Given the description of an element on the screen output the (x, y) to click on. 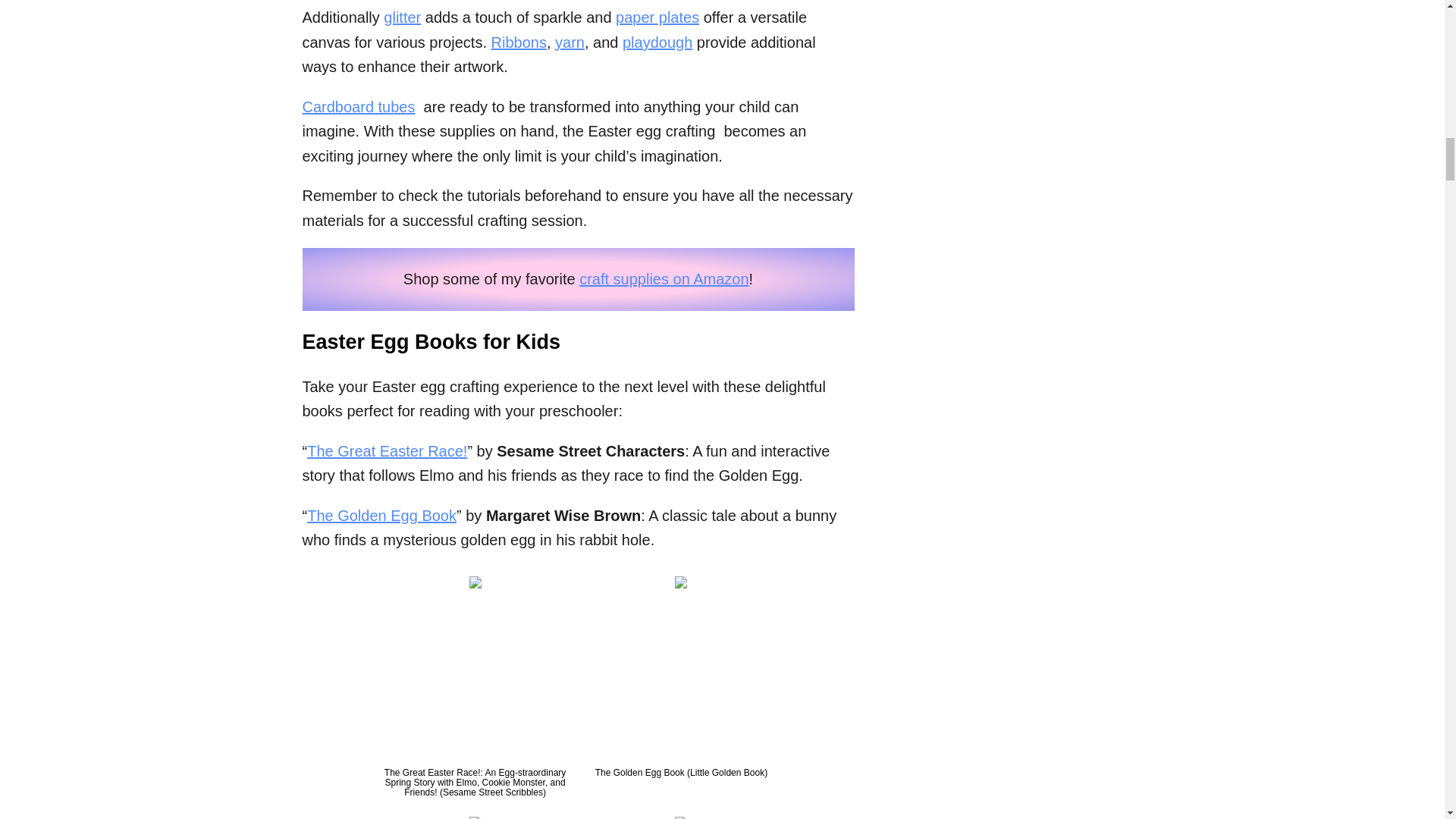
craft supplies on Amazon (663, 279)
yarn (569, 42)
The Golden Egg Book (382, 515)
How to Catch the Easter Bunny (681, 817)
Ribbons (519, 42)
The Great Easter Race! (387, 451)
playdough (658, 42)
paper plates (656, 17)
Cardboard tubes (357, 106)
